Given the description of an element on the screen output the (x, y) to click on. 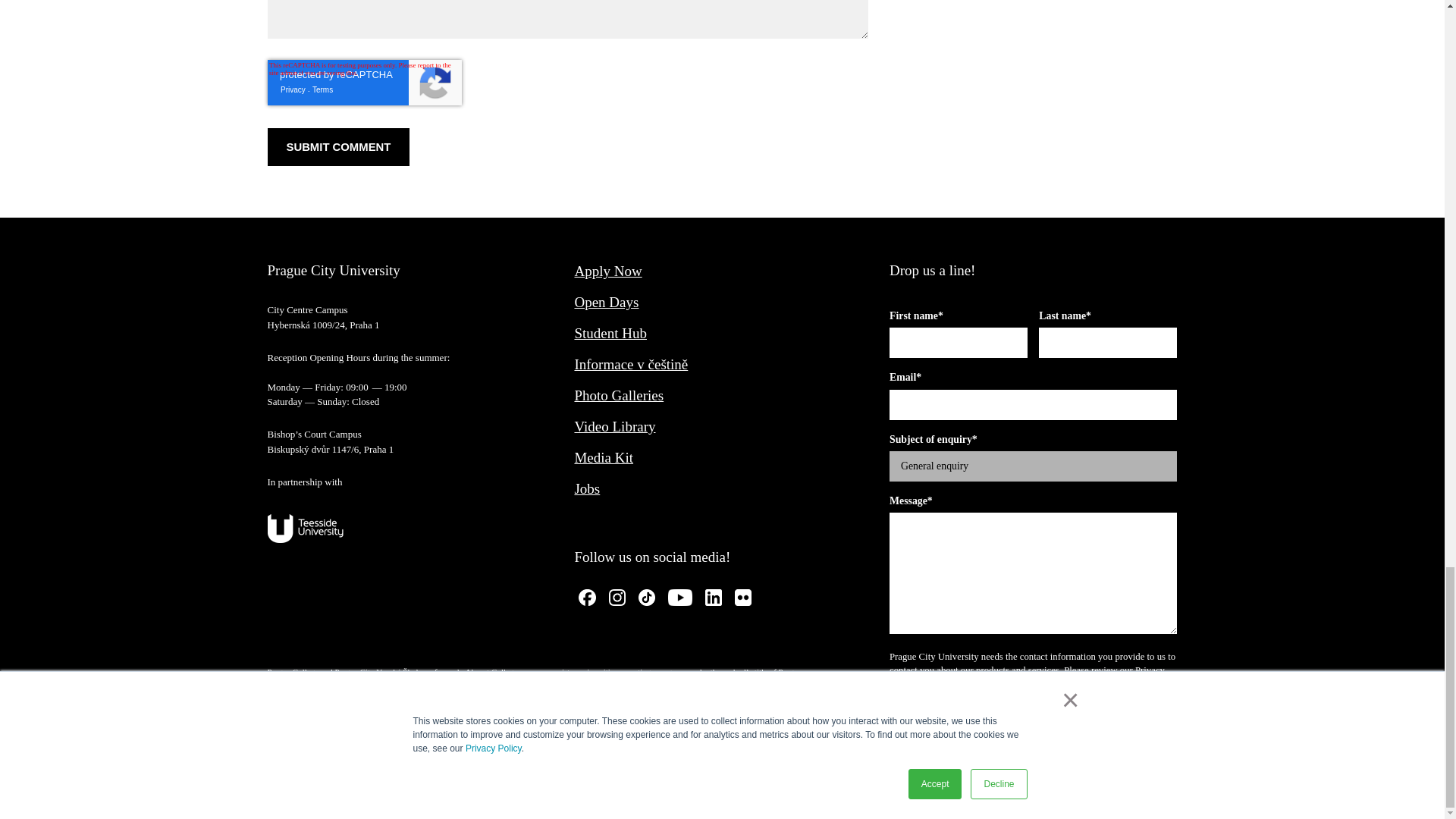
Submit (930, 763)
Submit Comment (337, 146)
reCAPTCHA (363, 82)
